Given the description of an element on the screen output the (x, y) to click on. 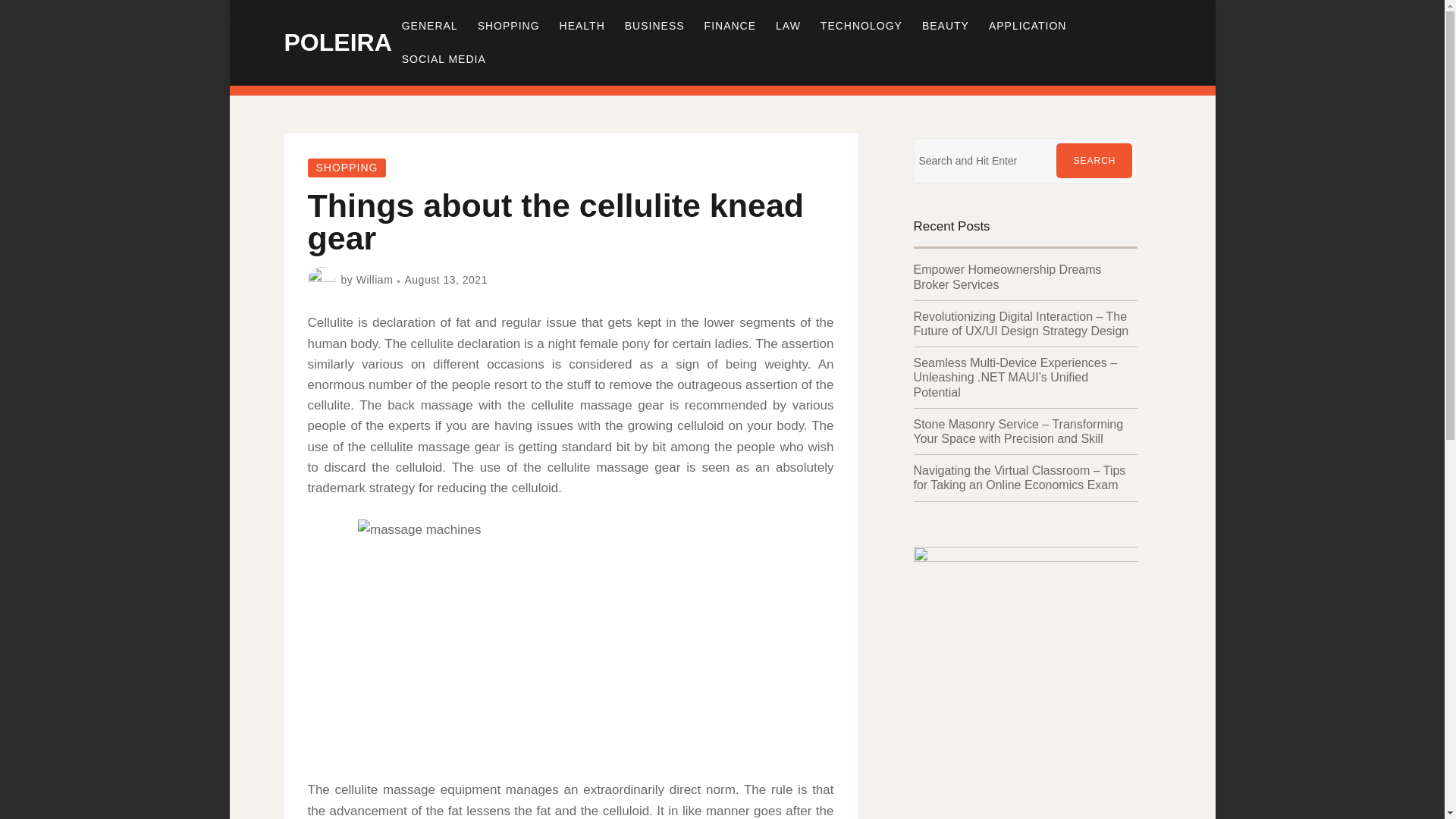
LAW (787, 25)
TECHNOLOGY (861, 25)
APPLICATION (1027, 25)
Empower Homeownership Dreams Broker Services (1006, 276)
SEARCH (1094, 160)
HEALTH (582, 25)
POLEIRA (337, 42)
SOCIAL MEDIA (443, 59)
William (374, 279)
FINANCE (729, 25)
